Given the description of an element on the screen output the (x, y) to click on. 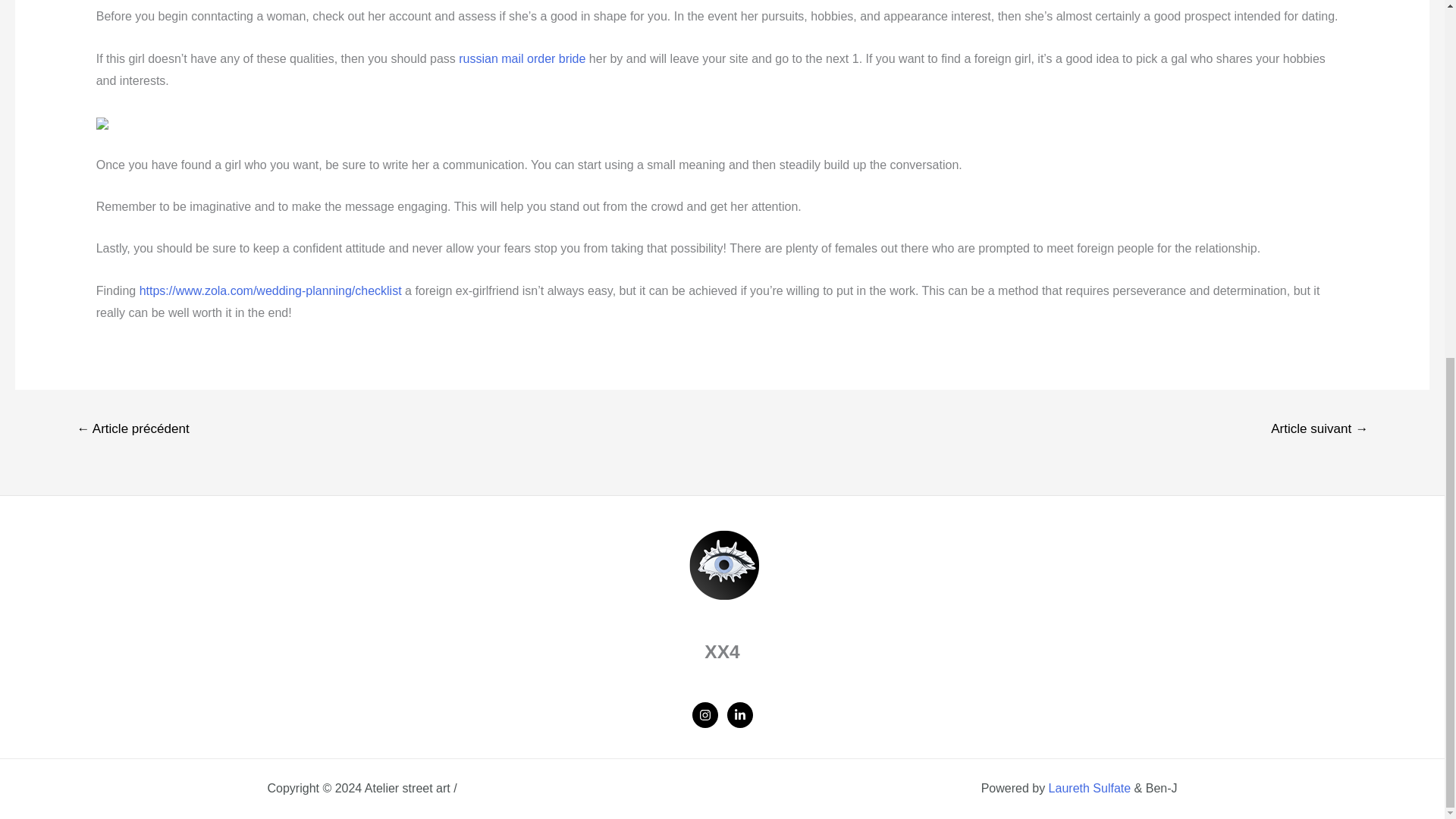
Laureth Sulfate (1089, 788)
russian mail order bride (521, 58)
